Given the description of an element on the screen output the (x, y) to click on. 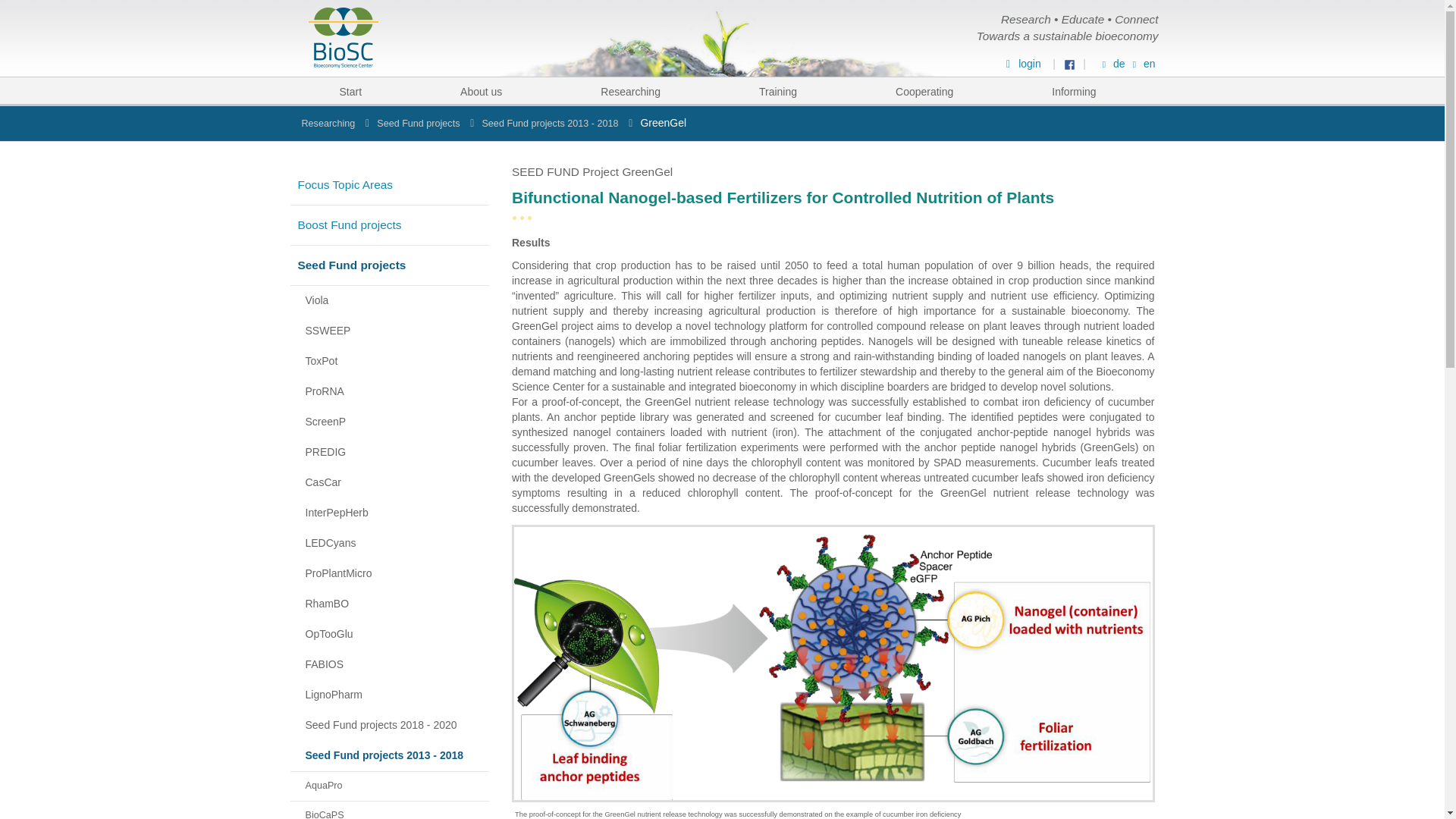
Cooperating (924, 91)
Start (349, 91)
Researching (630, 91)
login (1021, 63)
About us (480, 91)
Training (777, 91)
en (1142, 63)
Informing (1073, 91)
de (1111, 63)
